Given the description of an element on the screen output the (x, y) to click on. 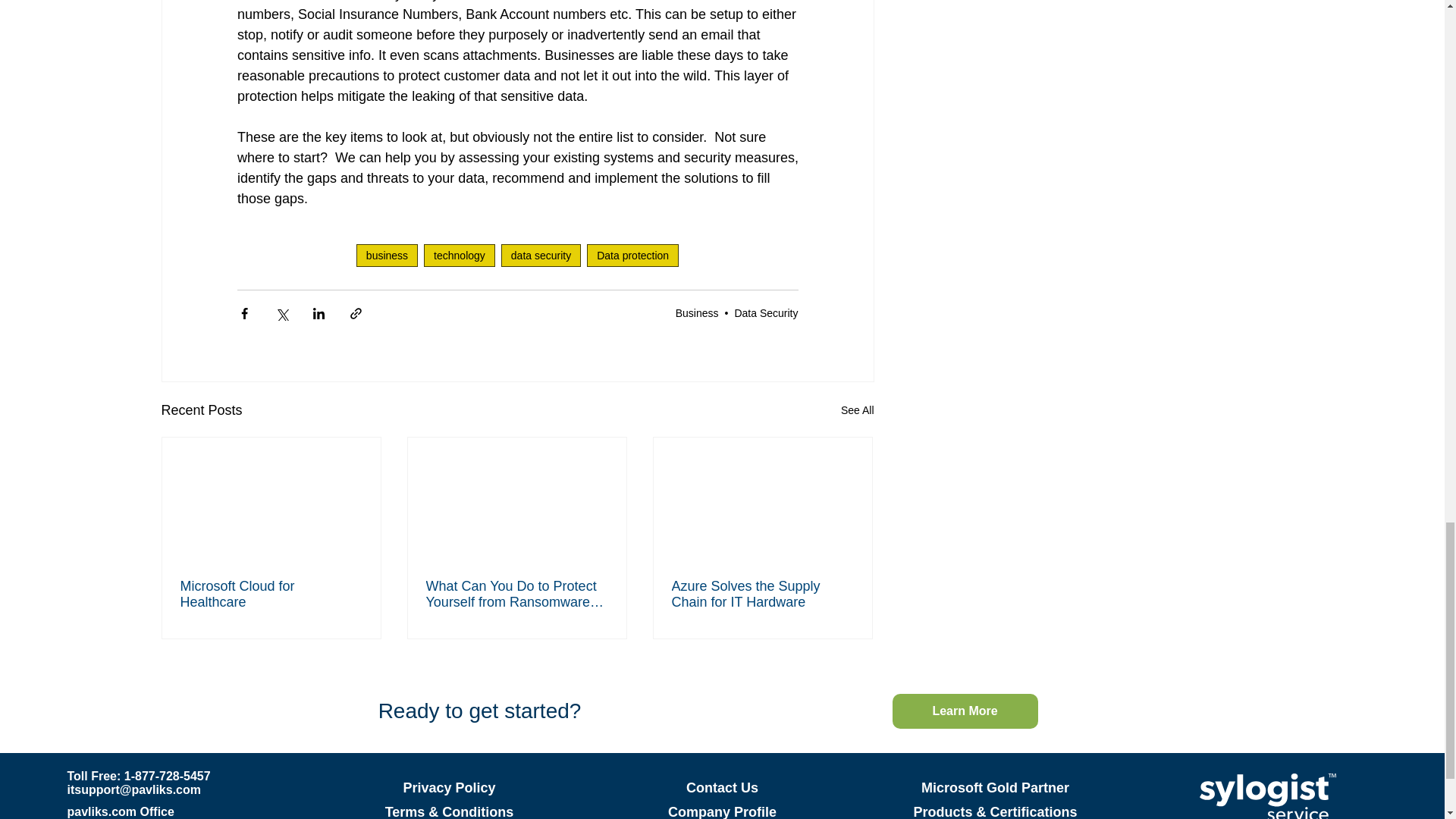
Business (697, 312)
Azure Solves the Supply Chain for IT Hardware (762, 594)
Data Security (765, 312)
Data protection (632, 255)
See All (858, 410)
data security (540, 255)
Learn More (963, 710)
technology (459, 255)
business (386, 255)
Microsoft Cloud for Healthcare (271, 594)
